Given the description of an element on the screen output the (x, y) to click on. 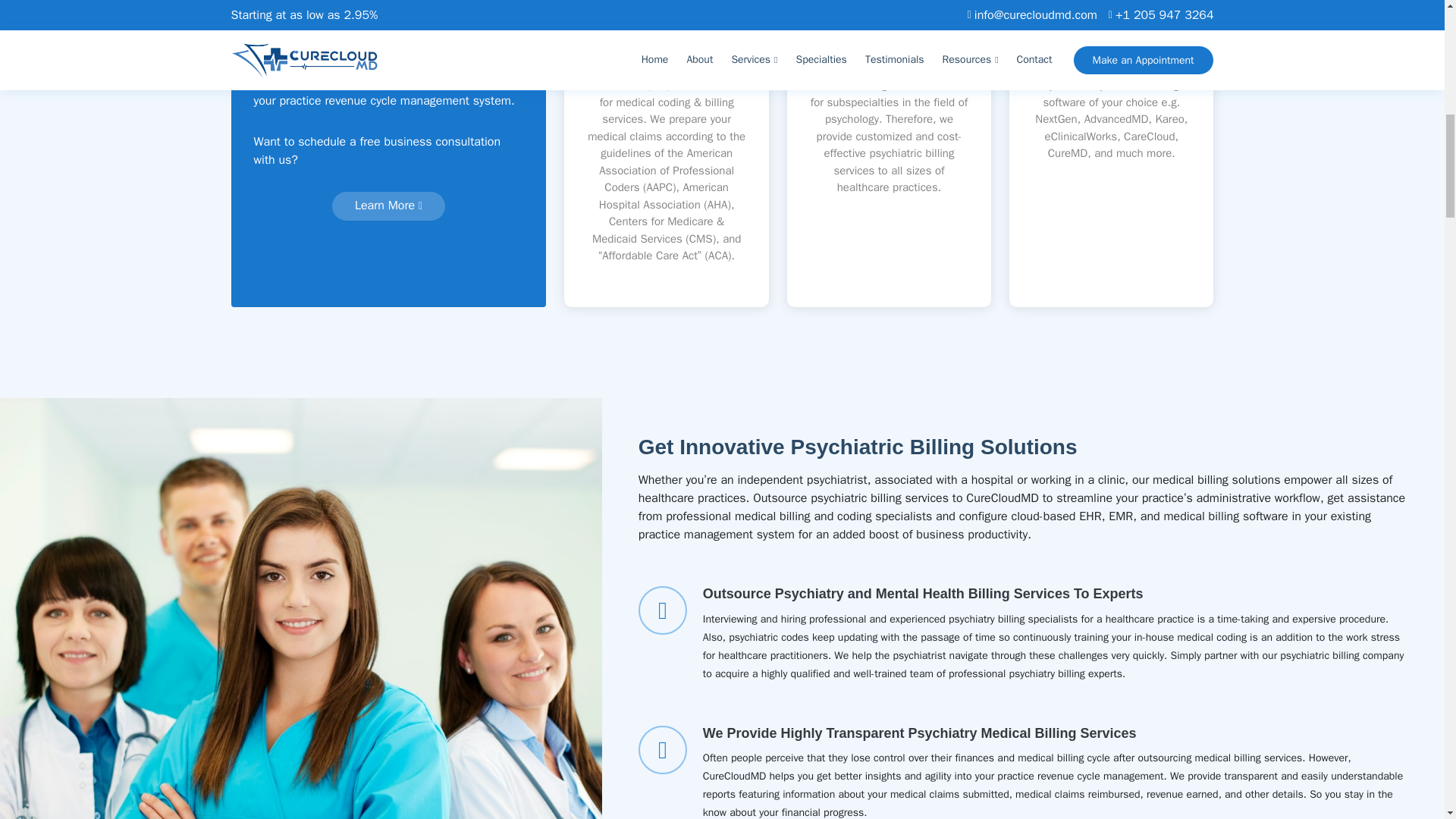
Learn More (388, 205)
